Given the description of an element on the screen output the (x, y) to click on. 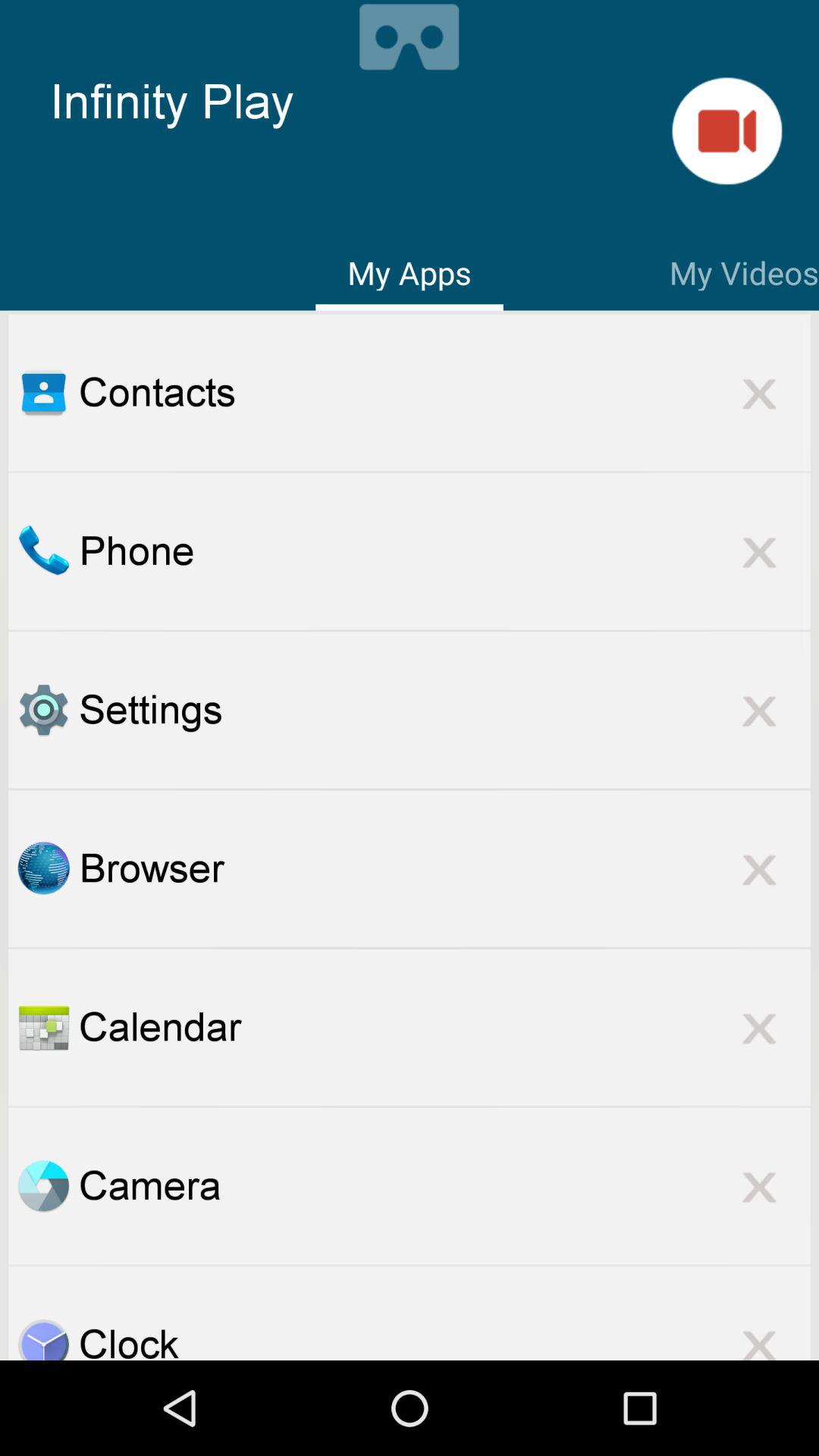
open the clock app (43, 1338)
